Given the description of an element on the screen output the (x, y) to click on. 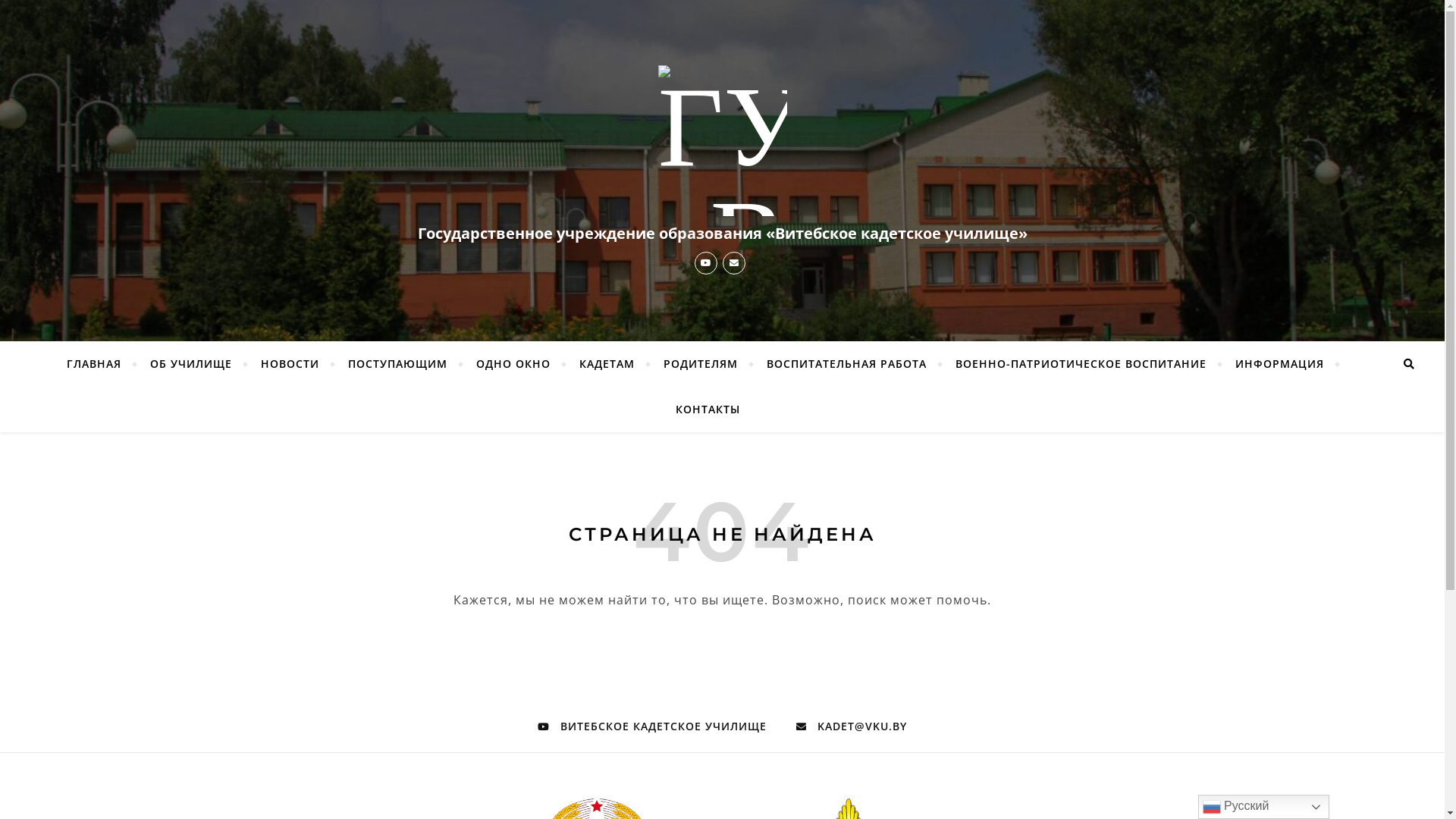
KADET@VKU.BY Element type: text (851, 726)
